Given the description of an element on the screen output the (x, y) to click on. 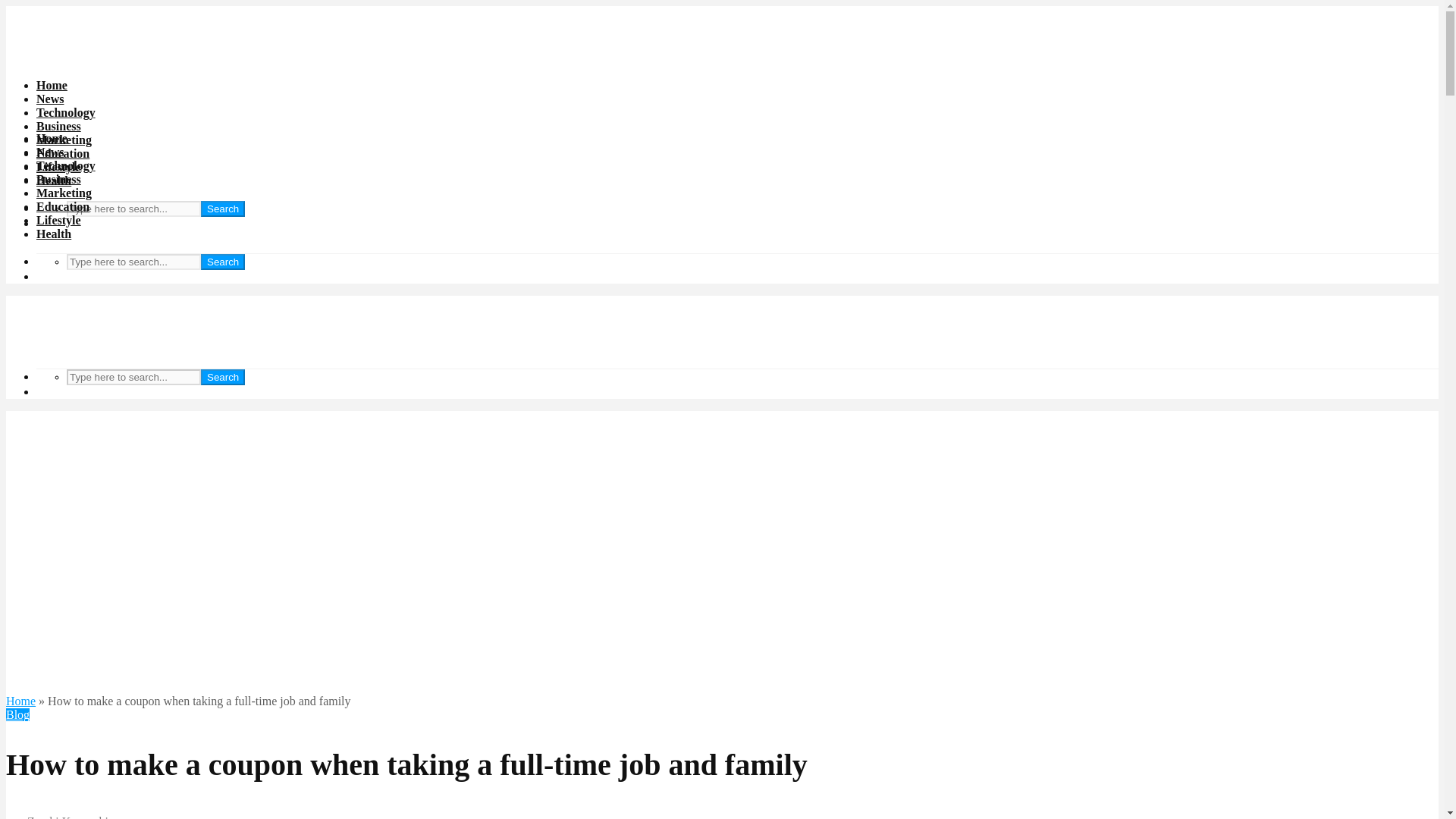
Technology (66, 112)
Marketing (63, 139)
News (50, 151)
Lifestyle (58, 166)
Home (19, 700)
News (50, 98)
Marketing (63, 192)
Business (58, 178)
Health (53, 180)
Technology (66, 164)
Health (53, 233)
Education (62, 153)
Search (222, 376)
Zaraki Kenpachi (56, 816)
Blog (17, 714)
